Given the description of an element on the screen output the (x, y) to click on. 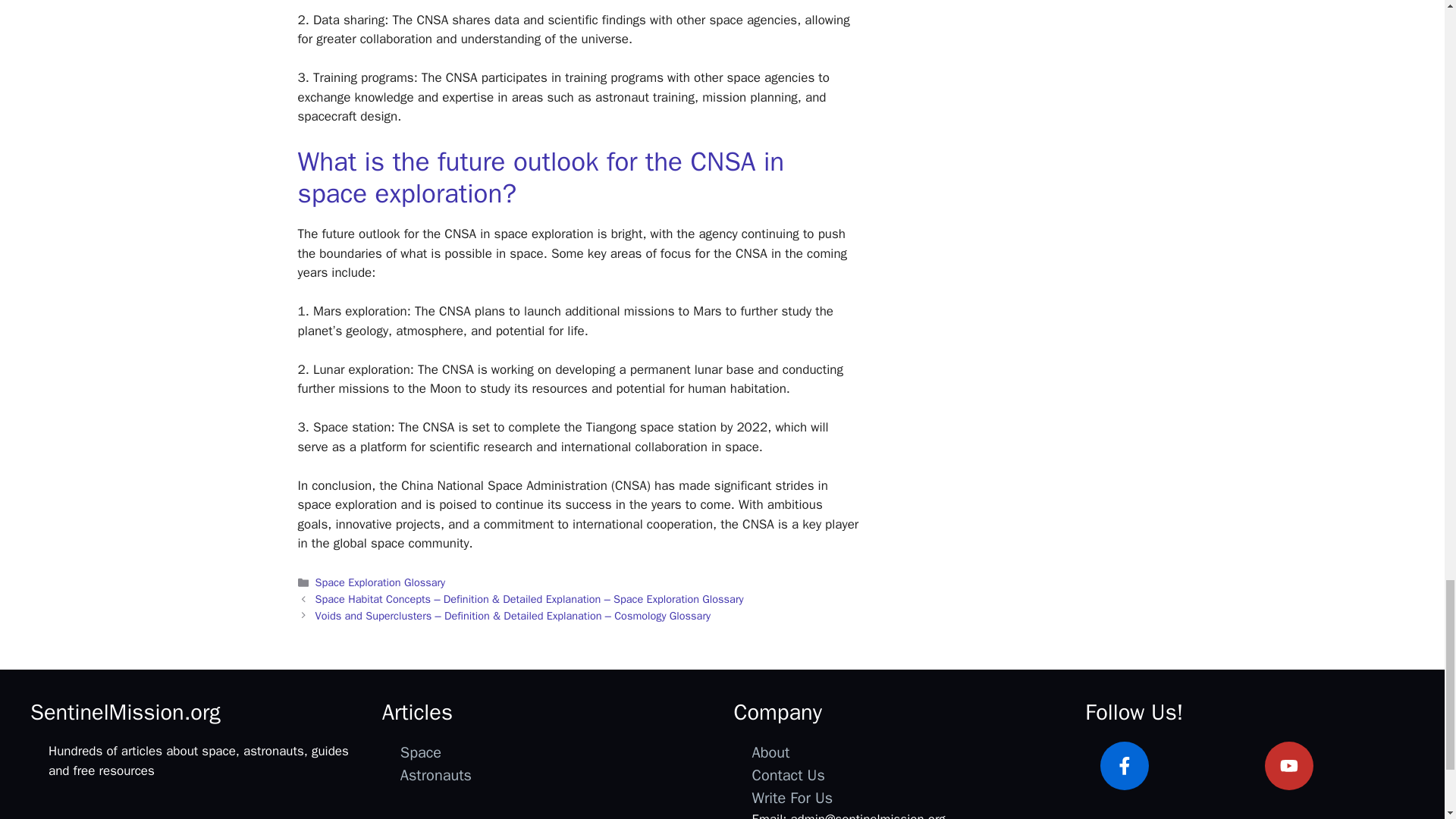
Space (420, 752)
SentinelMission.org (125, 712)
Astronauts (435, 774)
Space Exploration Glossary (380, 581)
